Given the description of an element on the screen output the (x, y) to click on. 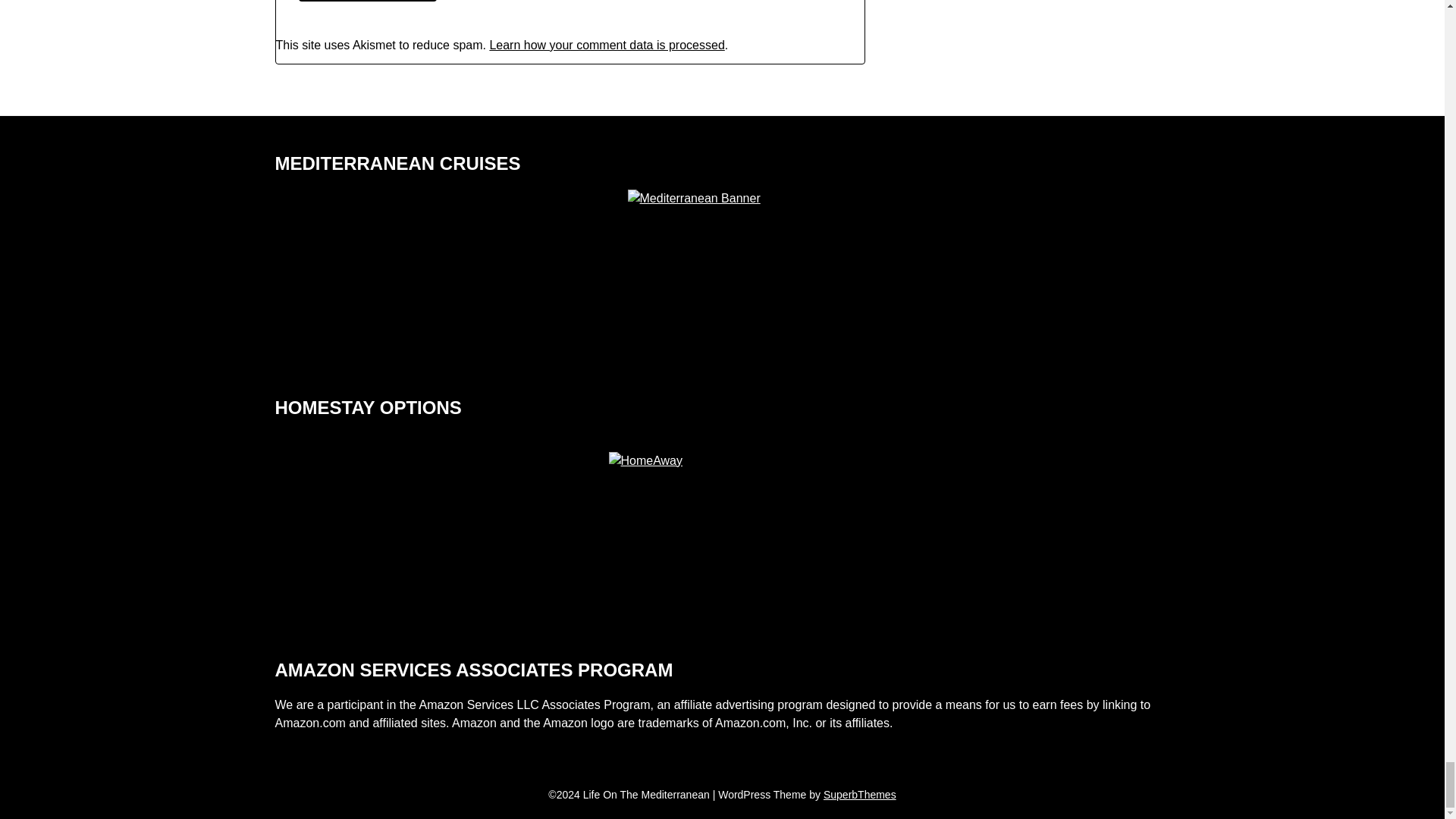
Post Comment (368, 0)
